Given the description of an element on the screen output the (x, y) to click on. 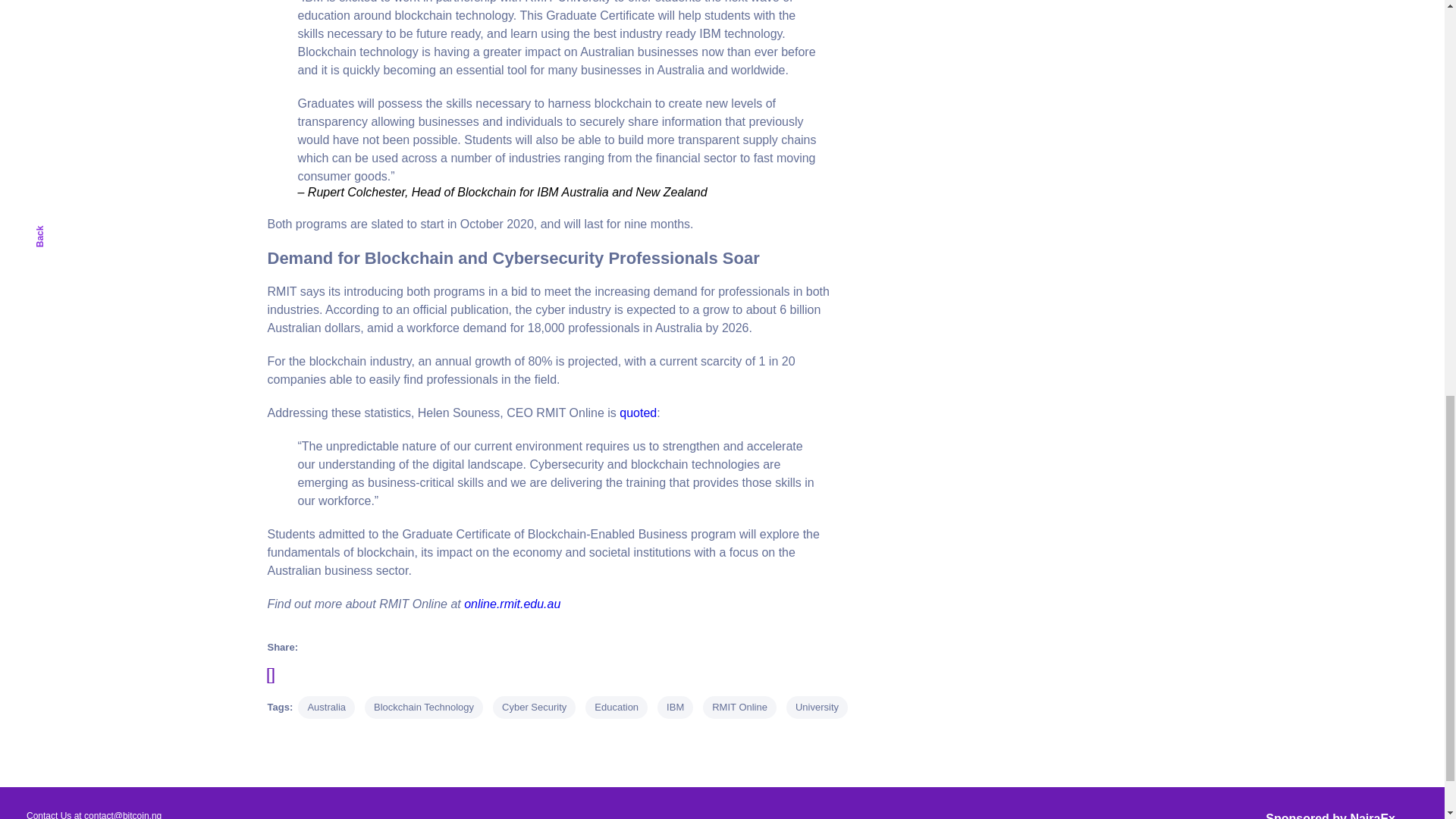
RMIT Online (739, 707)
IBM (675, 707)
Australia (326, 707)
Education (616, 707)
Cyber Security (534, 707)
online.rmit.edu.au (512, 603)
Blockchain Technology (424, 707)
University (816, 707)
quoted (638, 412)
